Given the description of an element on the screen output the (x, y) to click on. 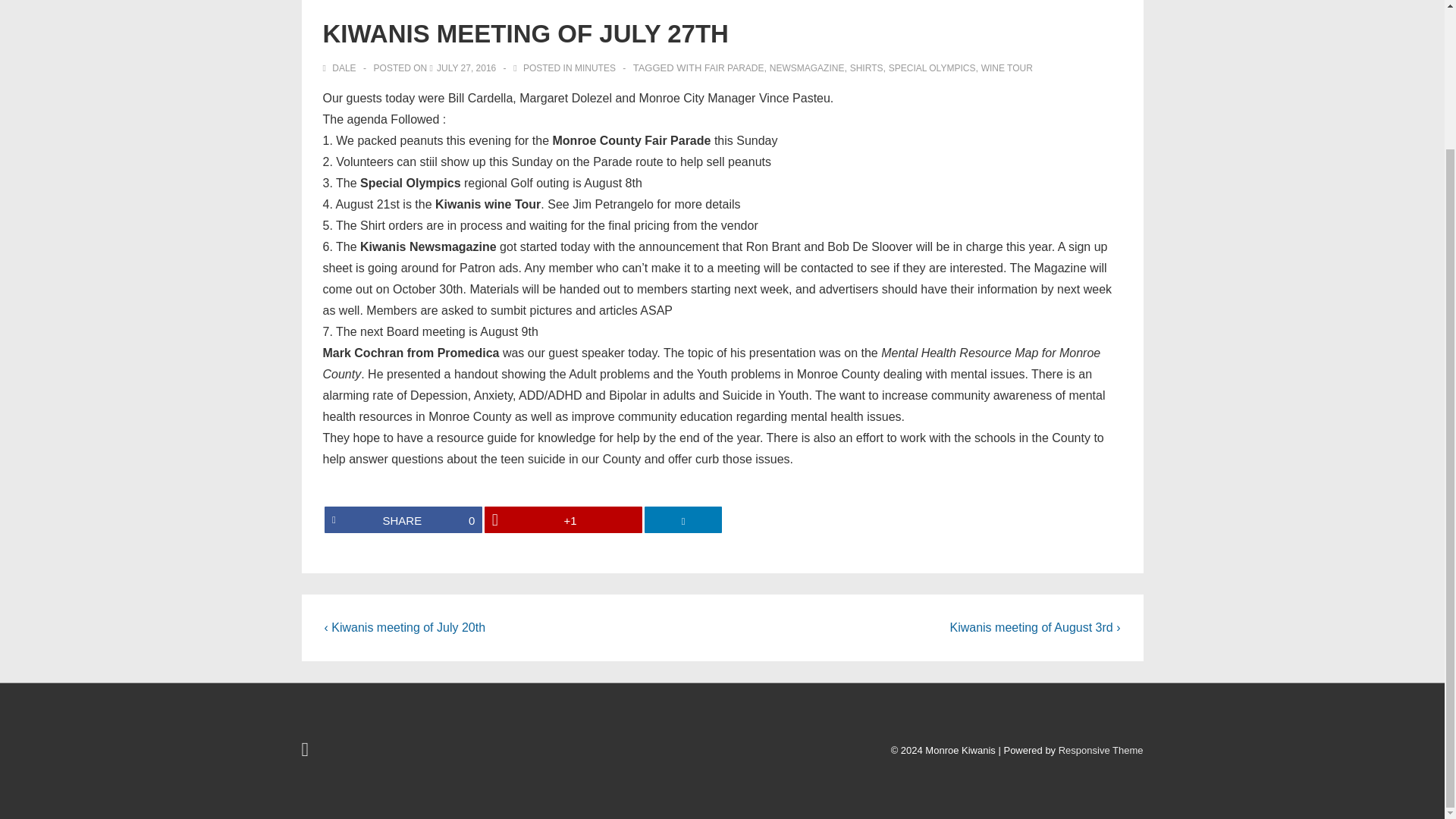
facebook (307, 752)
JULY 27, 2016 (466, 68)
Share on Linkedin (683, 519)
Share on Facebook (402, 519)
KIWANIS MEETING OF JULY 27TH (466, 68)
Responsive Theme (1100, 749)
MINUTES (595, 68)
SHIRTS (866, 68)
WINE TOUR (1006, 68)
View all posts by Dale (340, 68)
FAIR PARADE (733, 68)
DALE (340, 68)
SPECIAL OLYMPICS (402, 519)
NEWSMAGAZINE (931, 68)
